Given the description of an element on the screen output the (x, y) to click on. 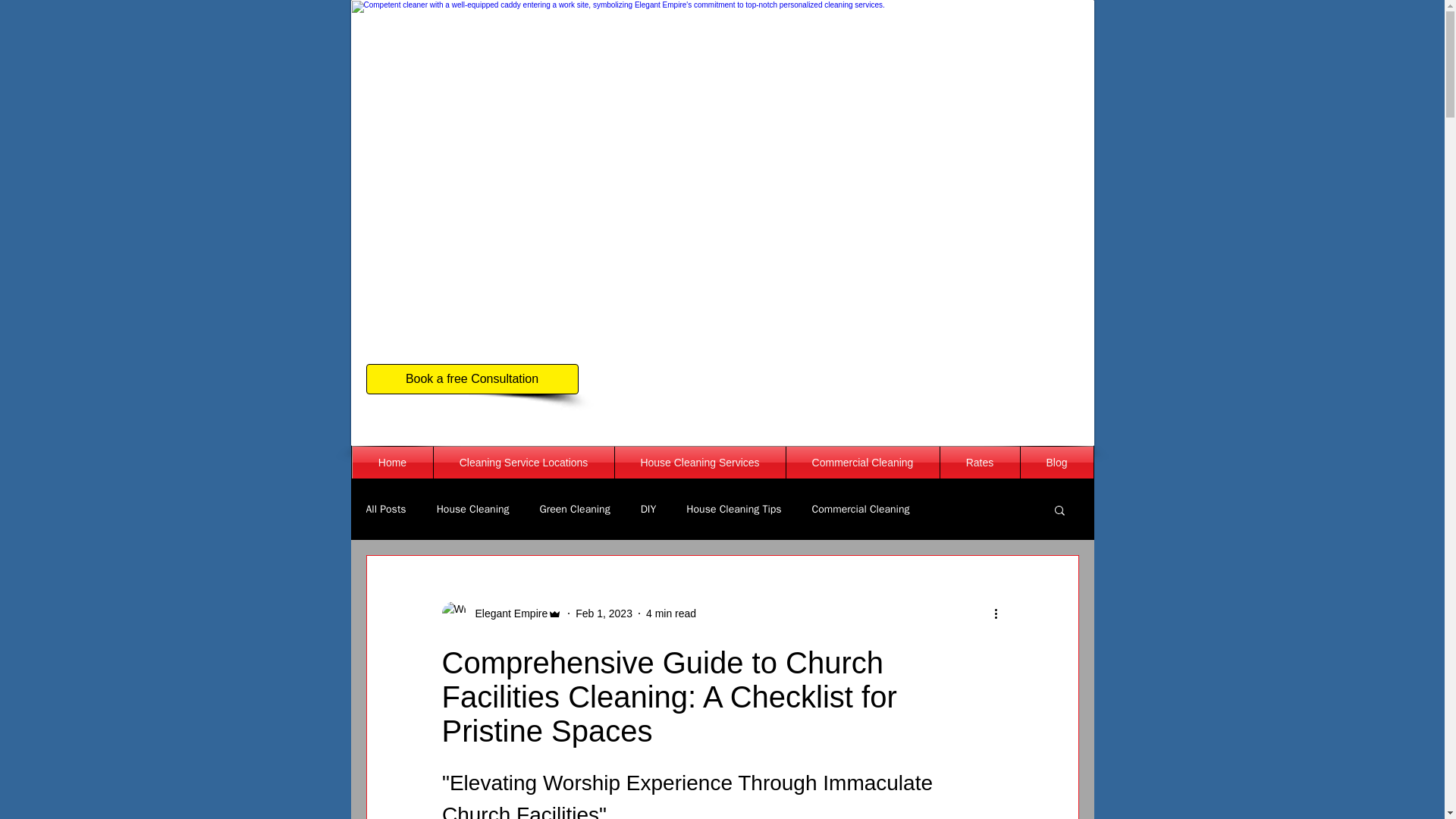
Blog (1056, 462)
Commercial Cleaning (862, 462)
Rates (980, 462)
House Cleaning Services (699, 462)
House Cleaning Tips (732, 509)
House Cleaning (472, 509)
Cleaning Service Locations (523, 462)
Feb 1, 2023 (603, 612)
DIY (648, 509)
All Posts (385, 509)
